Given the description of an element on the screen output the (x, y) to click on. 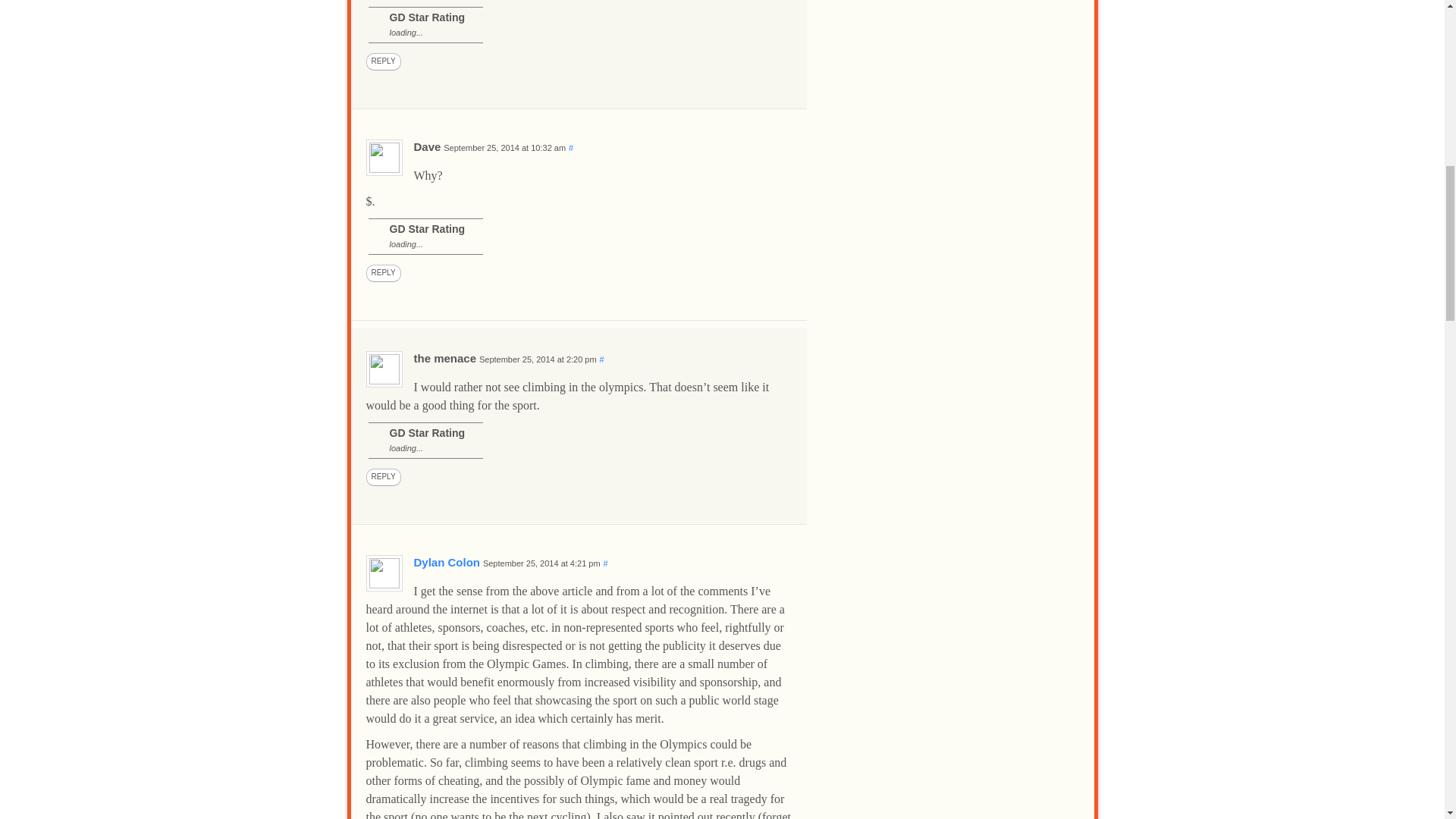
Dylan Colon (446, 562)
Direct link to this comment (601, 358)
REPLY (382, 477)
REPLY (382, 61)
Direct link to this comment (606, 563)
Direct link to this comment (571, 147)
REPLY (382, 272)
